Given the description of an element on the screen output the (x, y) to click on. 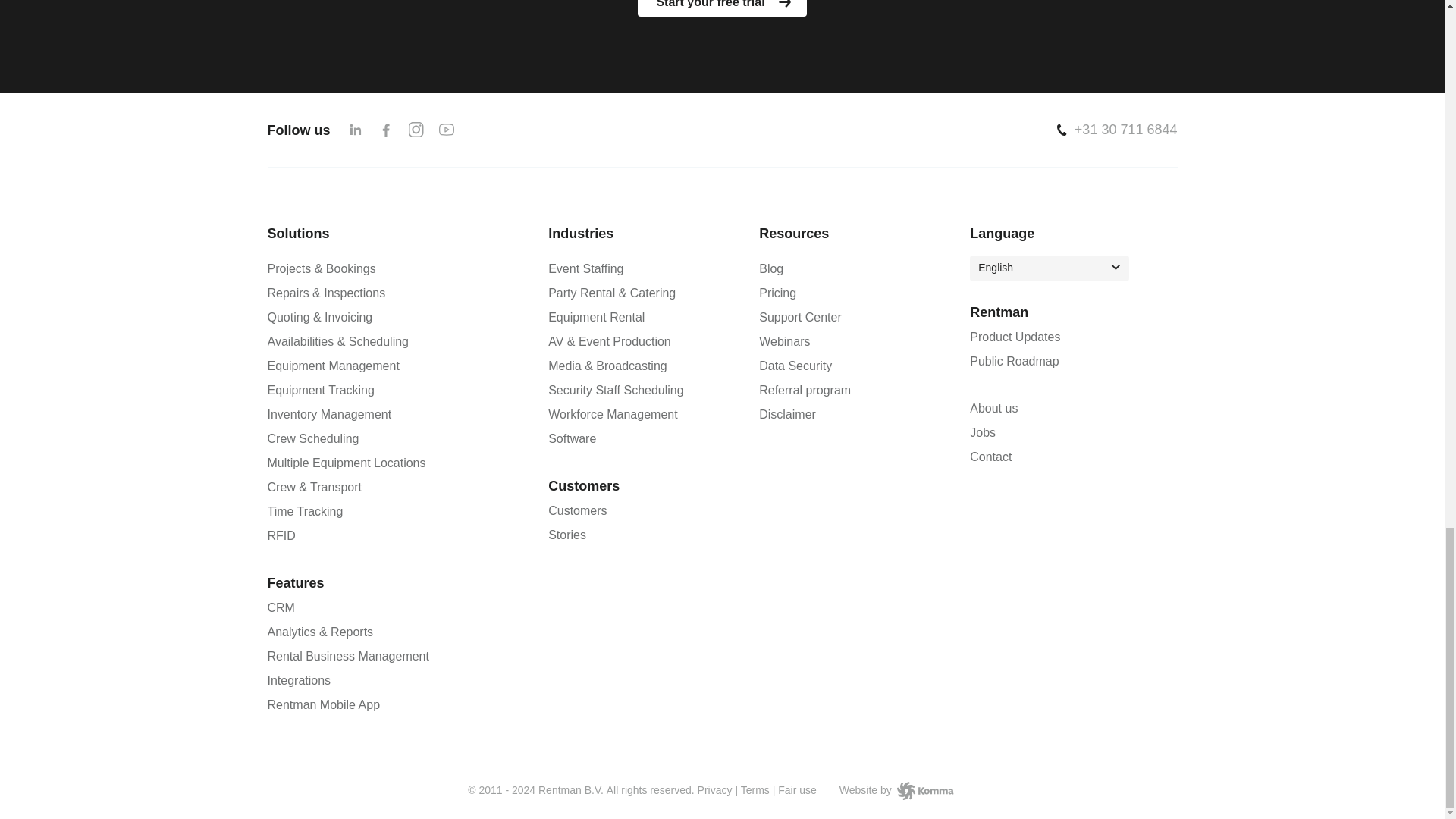
Start your free trial (721, 8)
Webinars (783, 341)
Data Security (794, 365)
RFID (280, 535)
Event Staffing (585, 269)
Pricing (777, 293)
Time Tracking (304, 511)
Rental Business Management (347, 656)
instagram (416, 130)
linkedin (355, 130)
